Given the description of an element on the screen output the (x, y) to click on. 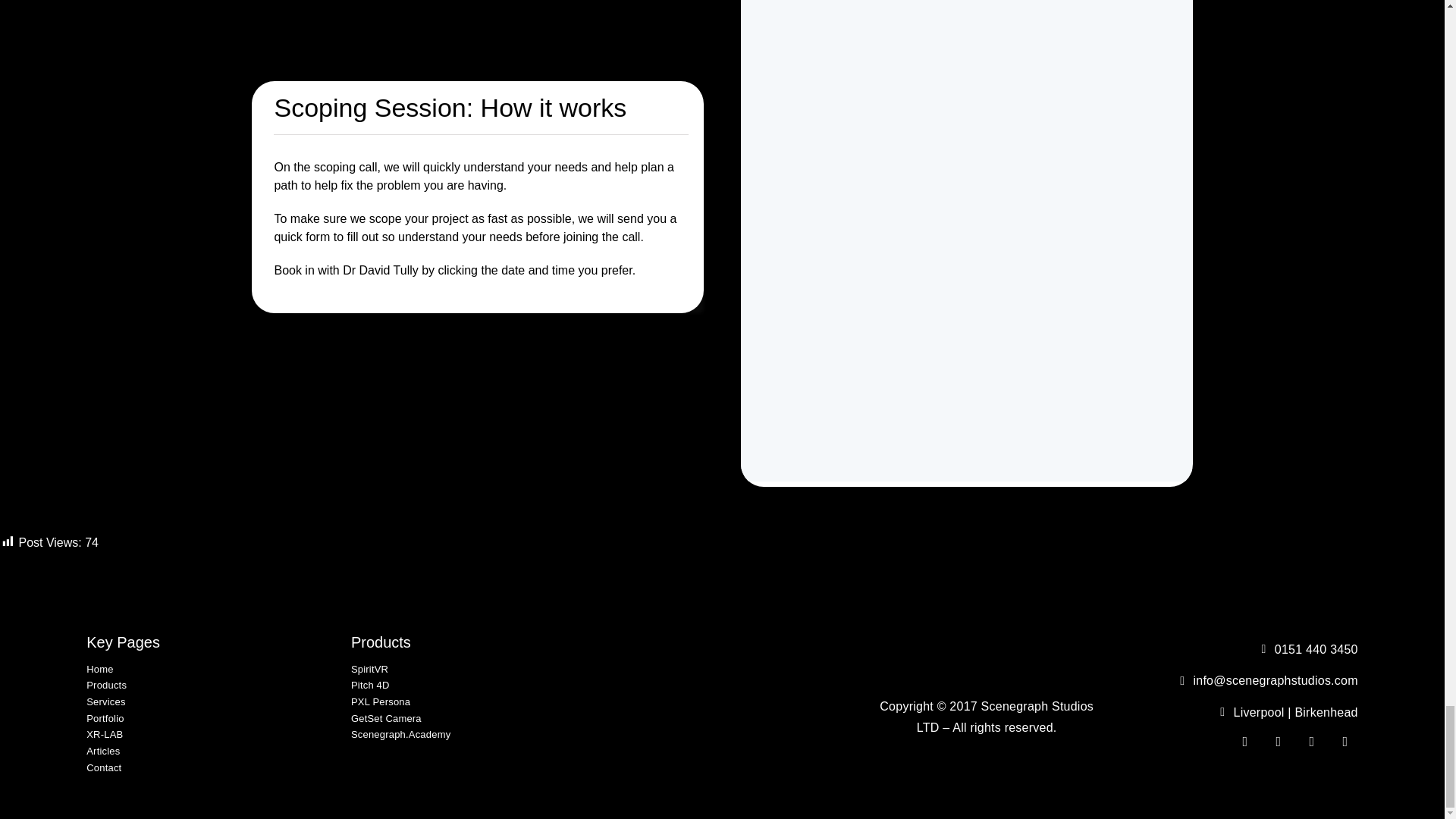
Facebook (1244, 741)
X (1311, 741)
Instagram (1278, 741)
